Given the description of an element on the screen output the (x, y) to click on. 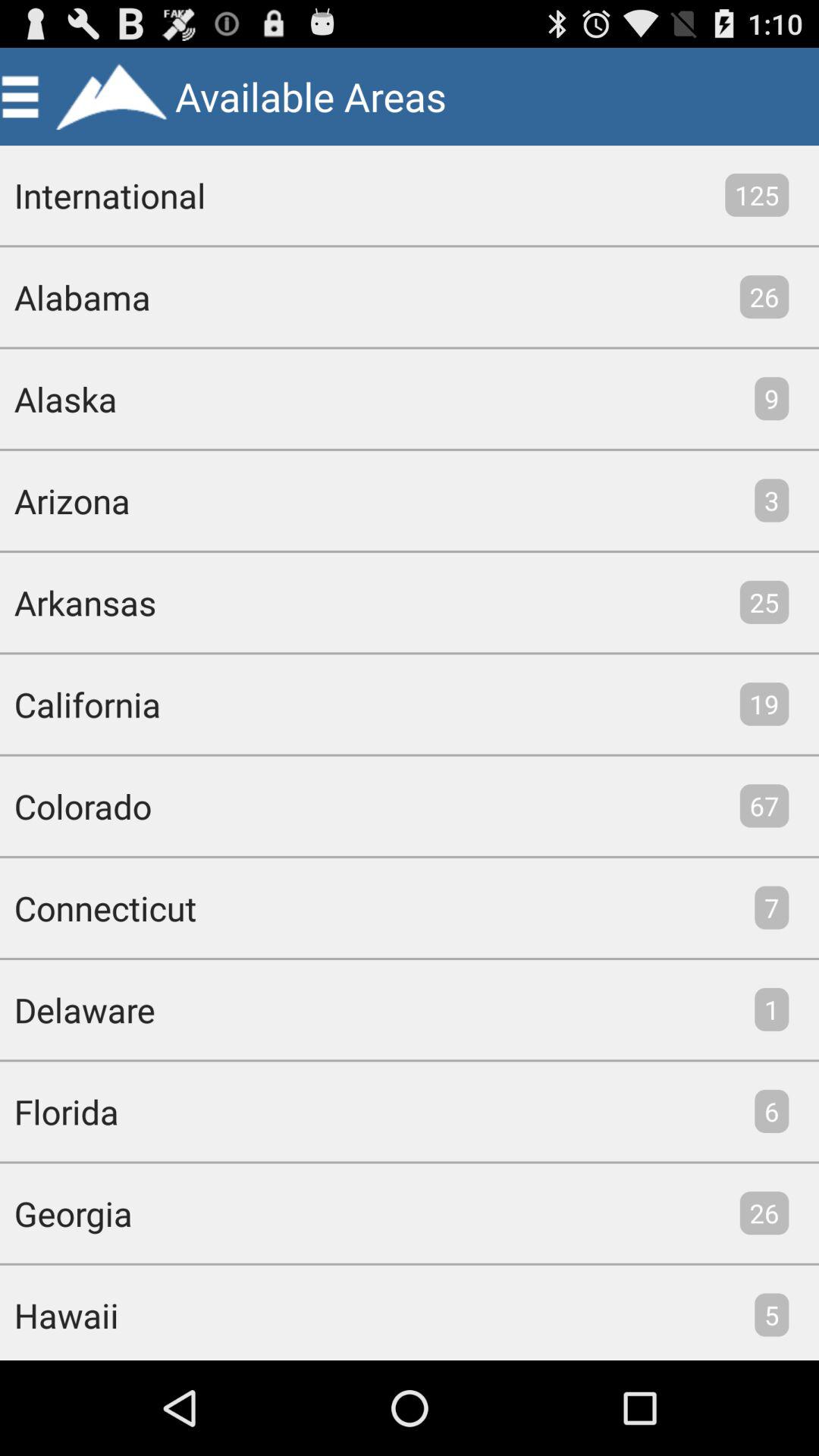
scroll to the arkansas app (78, 602)
